Given the description of an element on the screen output the (x, y) to click on. 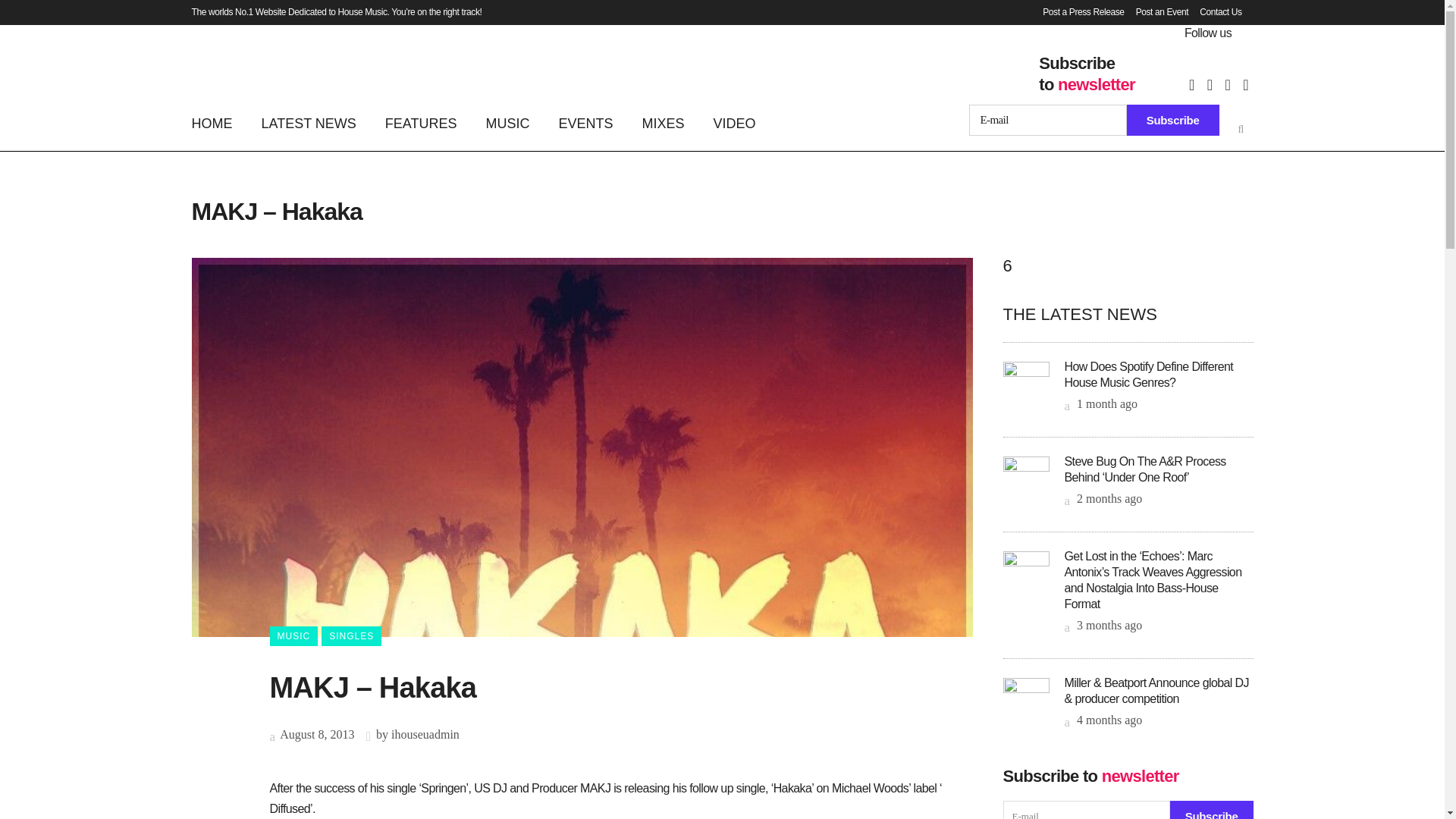
Post an Event (1156, 12)
HOME (218, 123)
E-mail (1047, 119)
LATEST NEWS (309, 123)
Subscribe (1173, 119)
FEATURES (421, 123)
Contact Us (1214, 12)
E-mail (1086, 809)
Subscribe (1211, 809)
Post a Press Release (1077, 12)
